Given the description of an element on the screen output the (x, y) to click on. 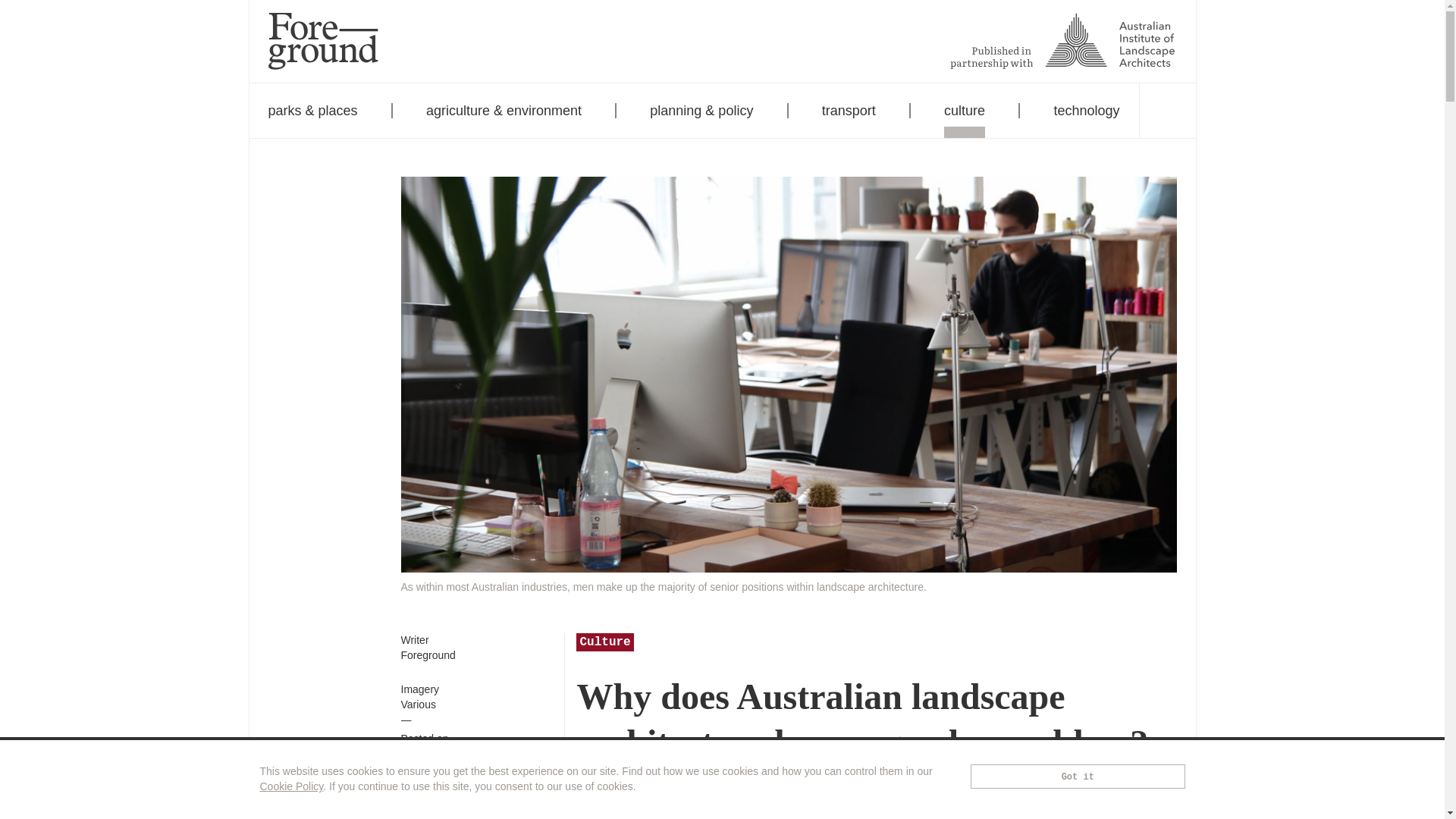
technology (1085, 110)
Foreground (427, 654)
Culture (604, 642)
transport (849, 110)
